Given the description of an element on the screen output the (x, y) to click on. 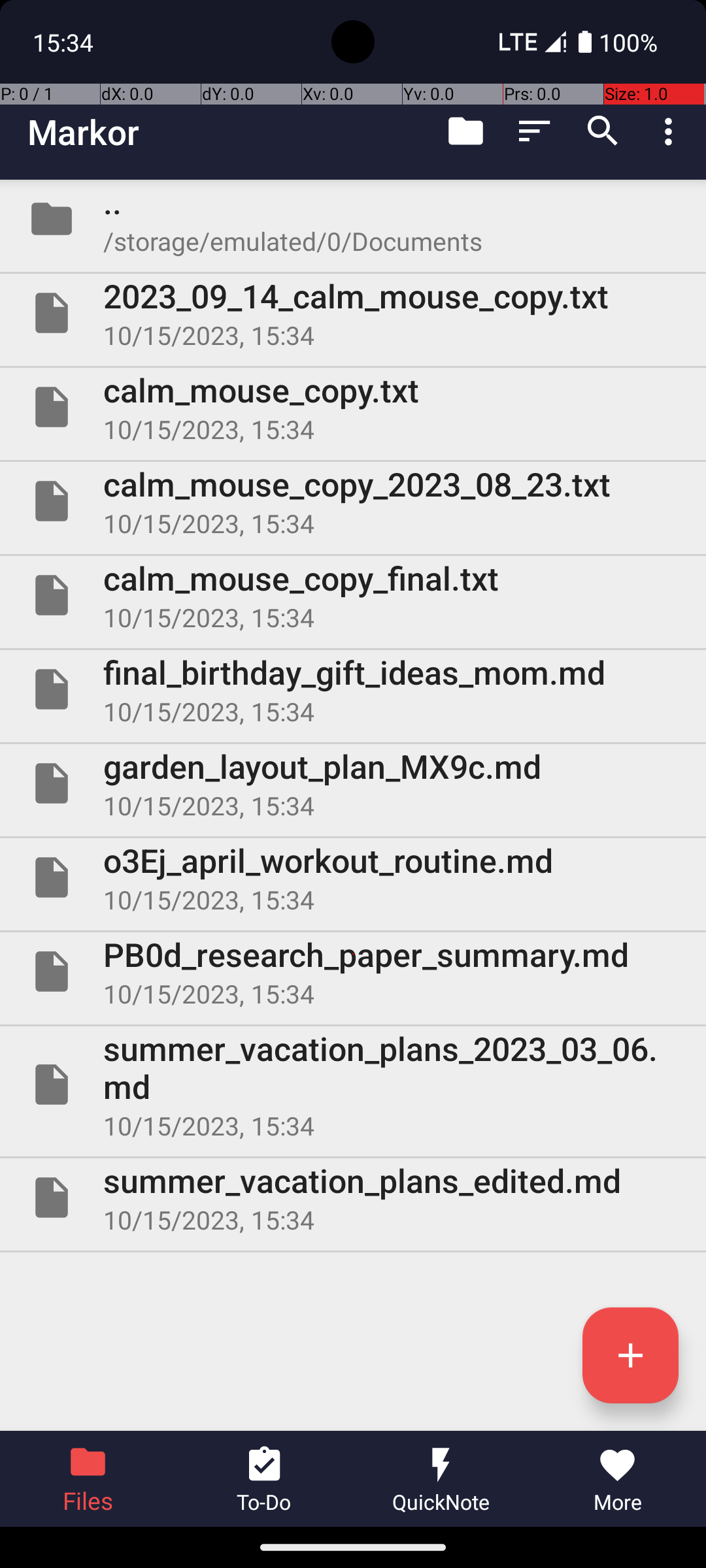
File 2023_09_14_calm_mouse_copy.txt  Element type: android.widget.LinearLayout (353, 312)
File calm_mouse_copy.txt  Element type: android.widget.LinearLayout (353, 406)
File calm_mouse_copy_2023_08_23.txt  Element type: android.widget.LinearLayout (353, 500)
File calm_mouse_copy_final.txt  Element type: android.widget.LinearLayout (353, 594)
File final_birthday_gift_ideas_mom.md  Element type: android.widget.LinearLayout (353, 689)
File garden_layout_plan_MX9c.md  Element type: android.widget.LinearLayout (353, 783)
File o3Ej_april_workout_routine.md  Element type: android.widget.LinearLayout (353, 877)
File PB0d_research_paper_summary.md  Element type: android.widget.LinearLayout (353, 971)
File summer_vacation_plans_2023_03_06.md  Element type: android.widget.LinearLayout (353, 1084)
File summer_vacation_plans_edited.md  Element type: android.widget.LinearLayout (353, 1197)
